Given the description of an element on the screen output the (x, y) to click on. 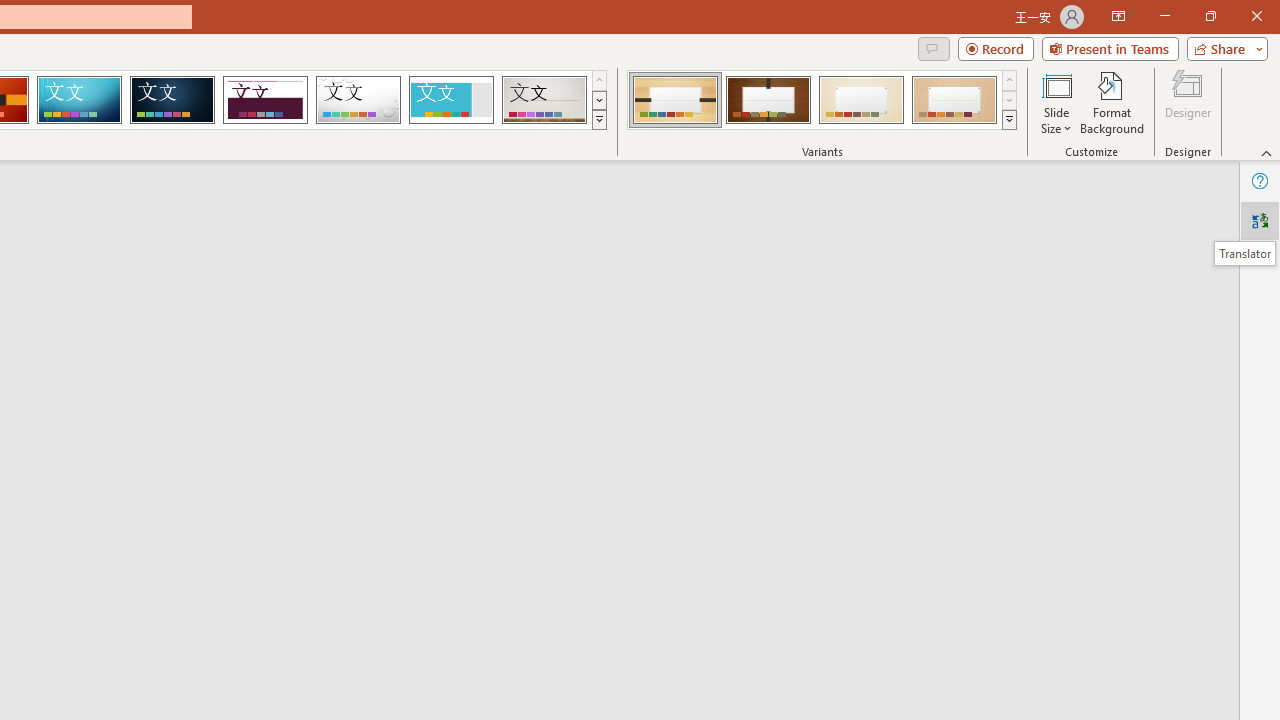
Themes (598, 120)
Format Background (1111, 102)
Row up (1009, 79)
Row Down (1009, 100)
Translator (1244, 253)
Slide Size (1056, 102)
AutomationID: ThemeVariantsGallery (822, 99)
Organic Variant 2 (768, 100)
